Given the description of an element on the screen output the (x, y) to click on. 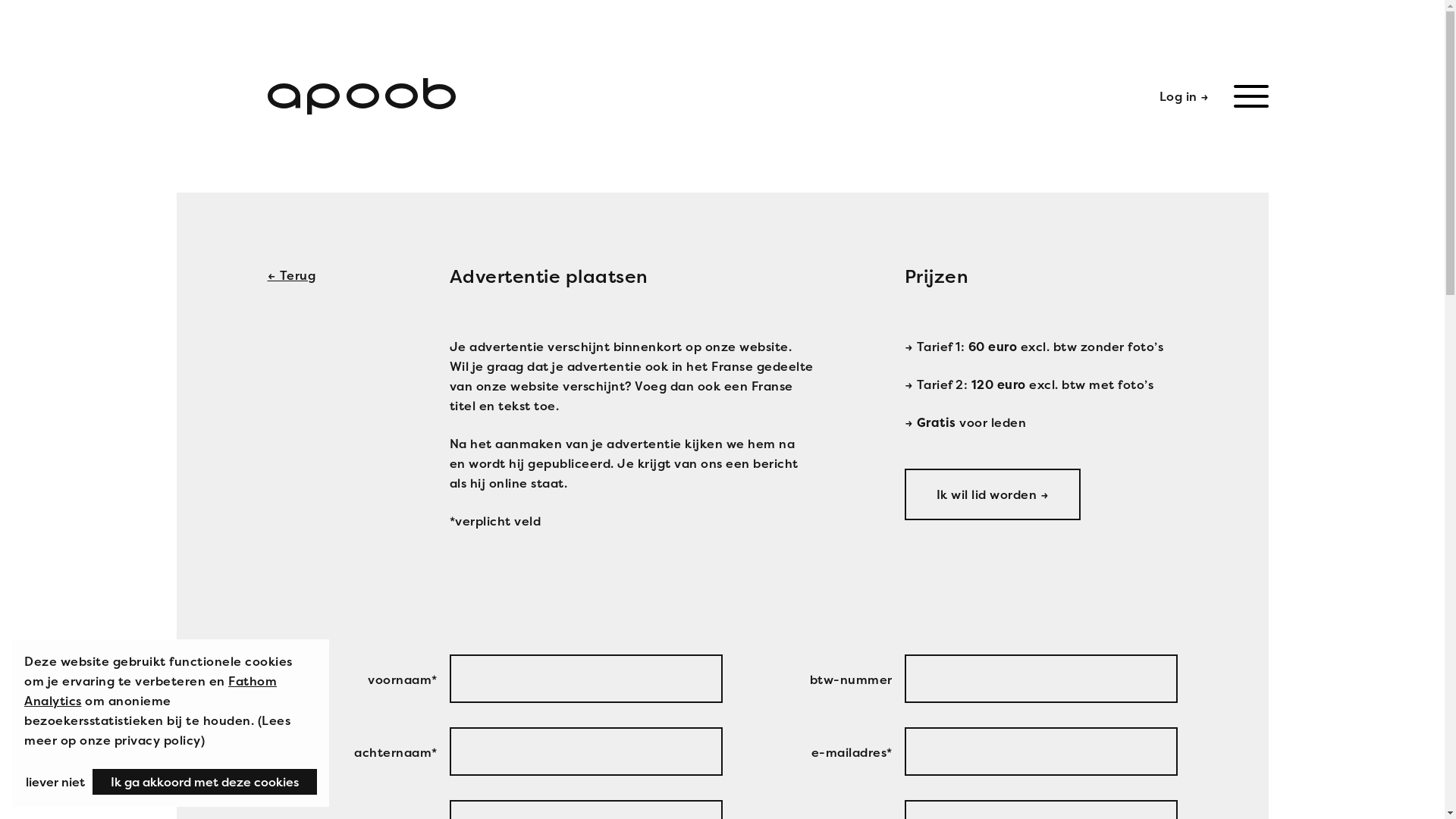
Fathom Analytics Element type: text (150, 690)
APOOB Element type: hover (360, 96)
Lees meer op onze privacy policy Element type: text (157, 730)
Ik ga akkoord met deze cookies Element type: text (204, 781)
liever niet Element type: text (54, 781)
